Given the description of an element on the screen output the (x, y) to click on. 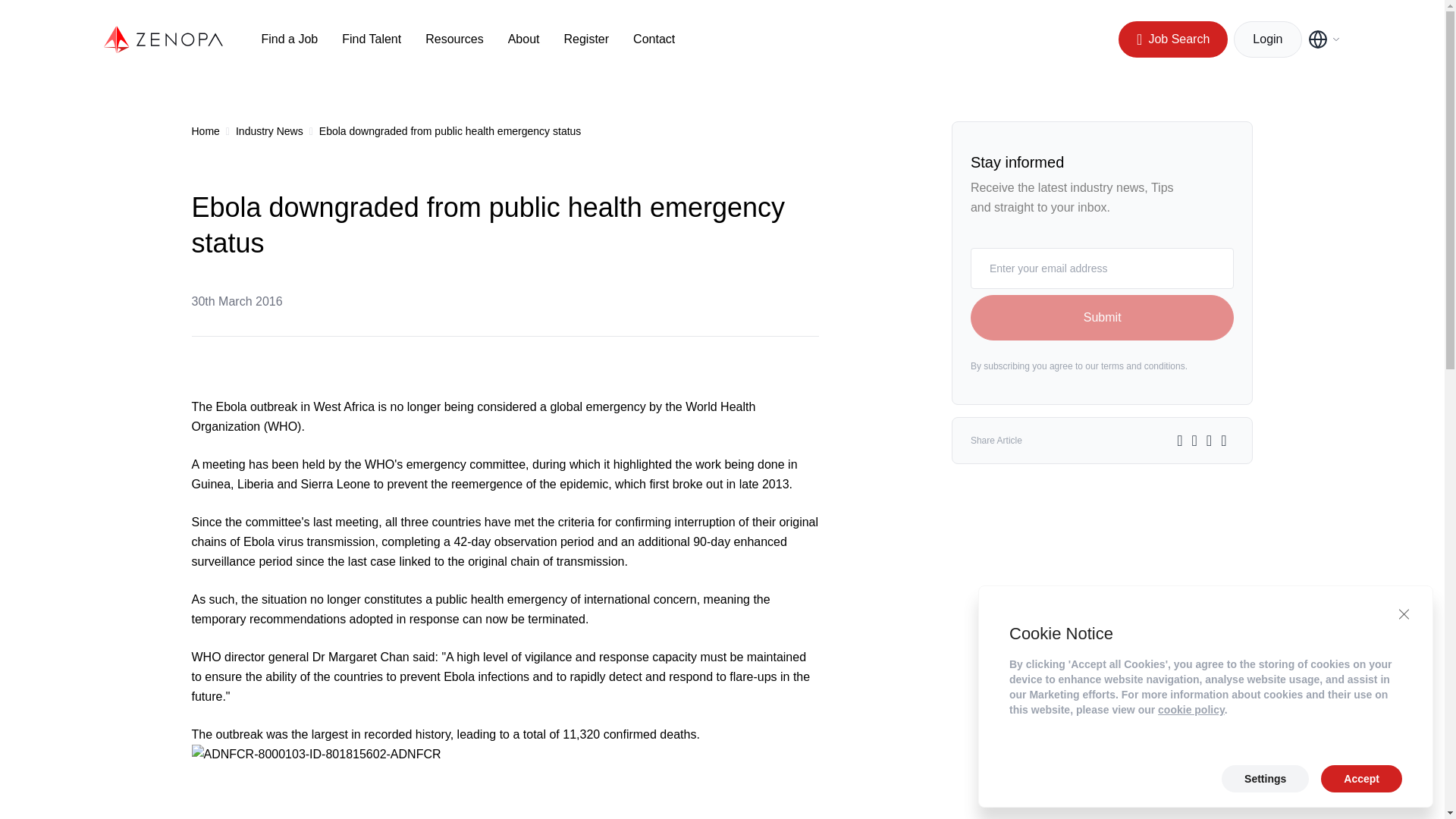
Find a Job (288, 39)
Zenopa (163, 39)
Find Talent (371, 39)
